Given the description of an element on the screen output the (x, y) to click on. 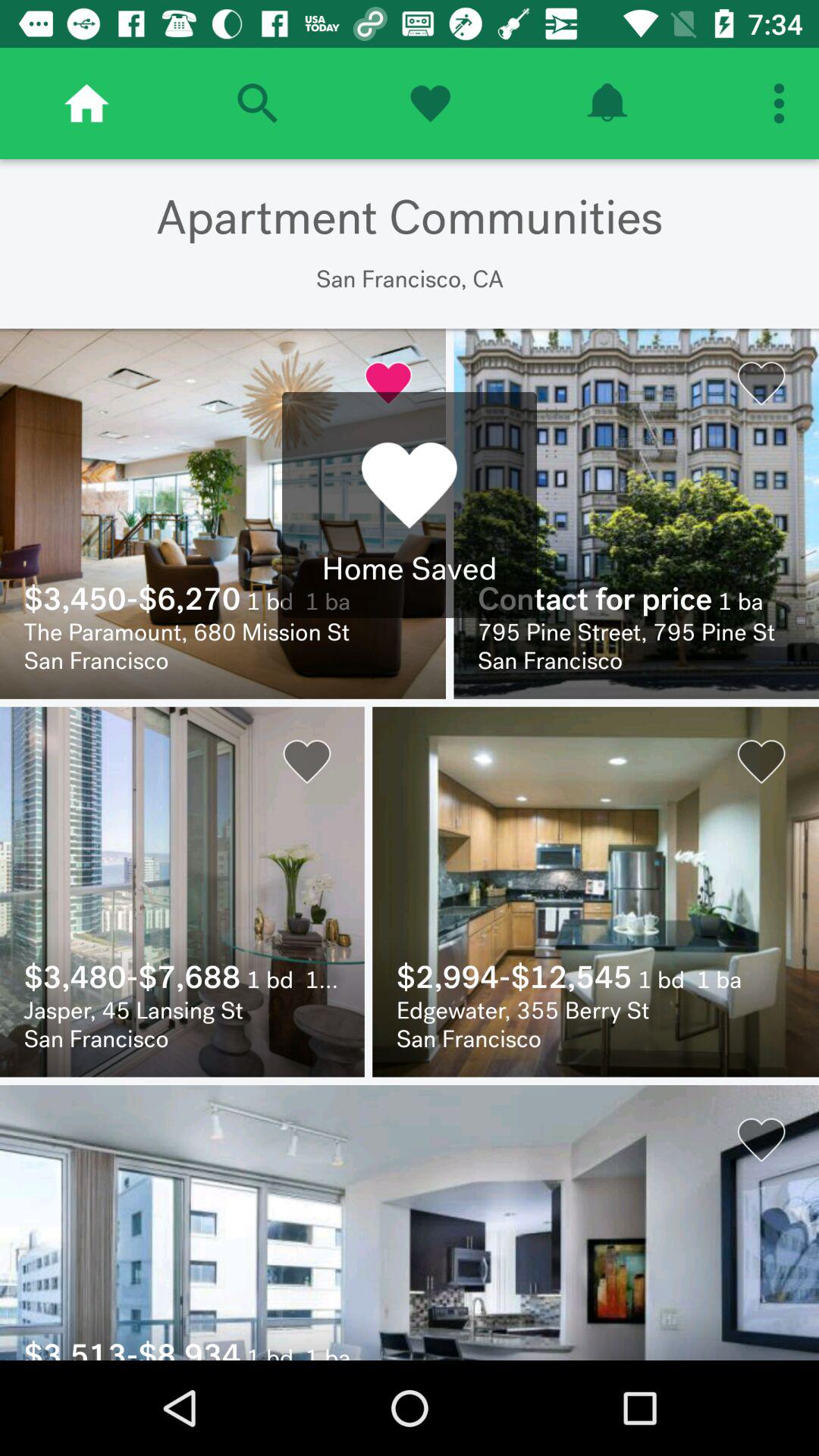
search button for apartments (257, 103)
